Given the description of an element on the screen output the (x, y) to click on. 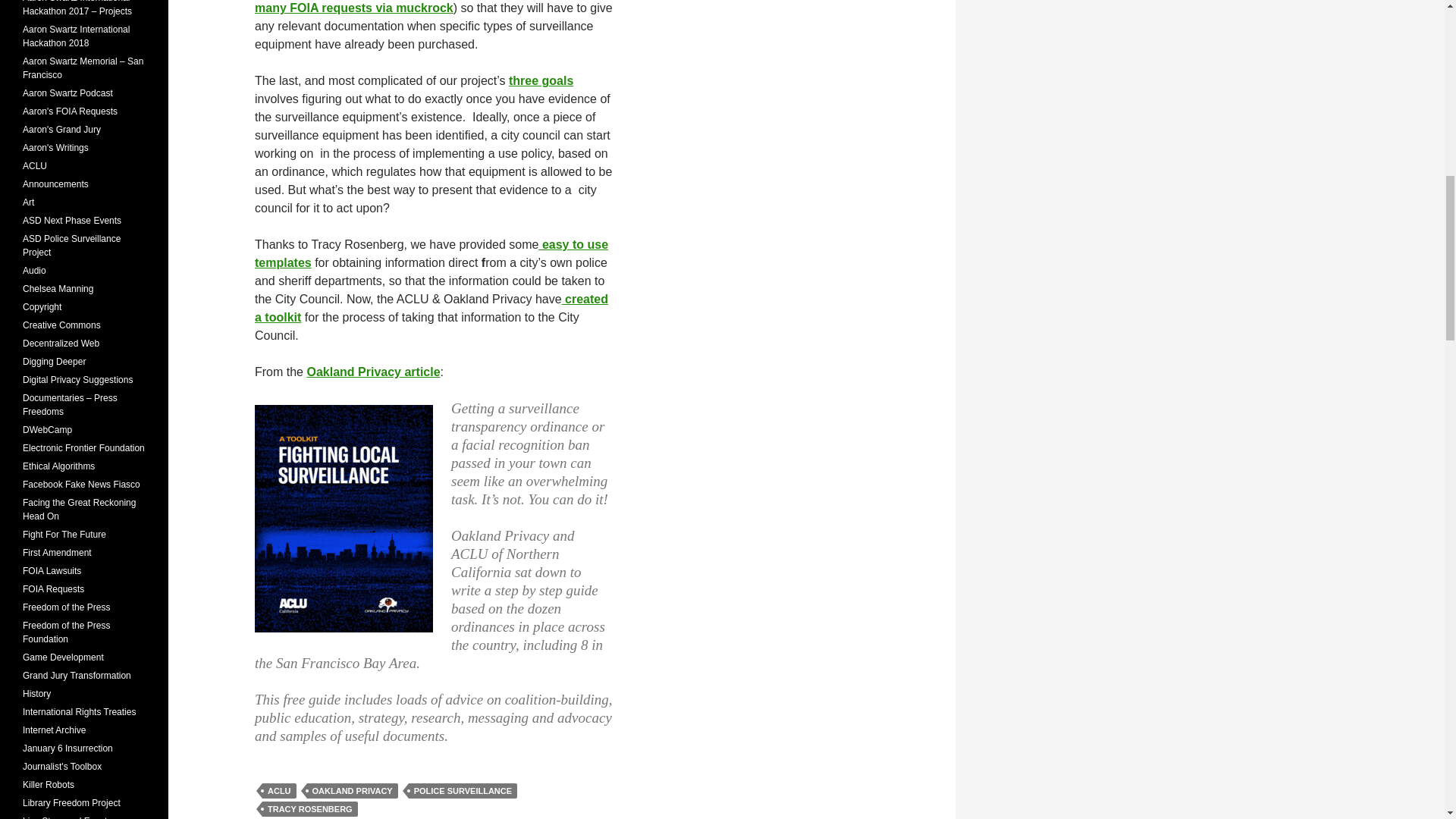
Oakland Privacy article (372, 371)
created a toolkit (431, 307)
easy to use templates (431, 253)
three goals (540, 80)
many FOIA requests via muckrock (353, 7)
